Given the description of an element on the screen output the (x, y) to click on. 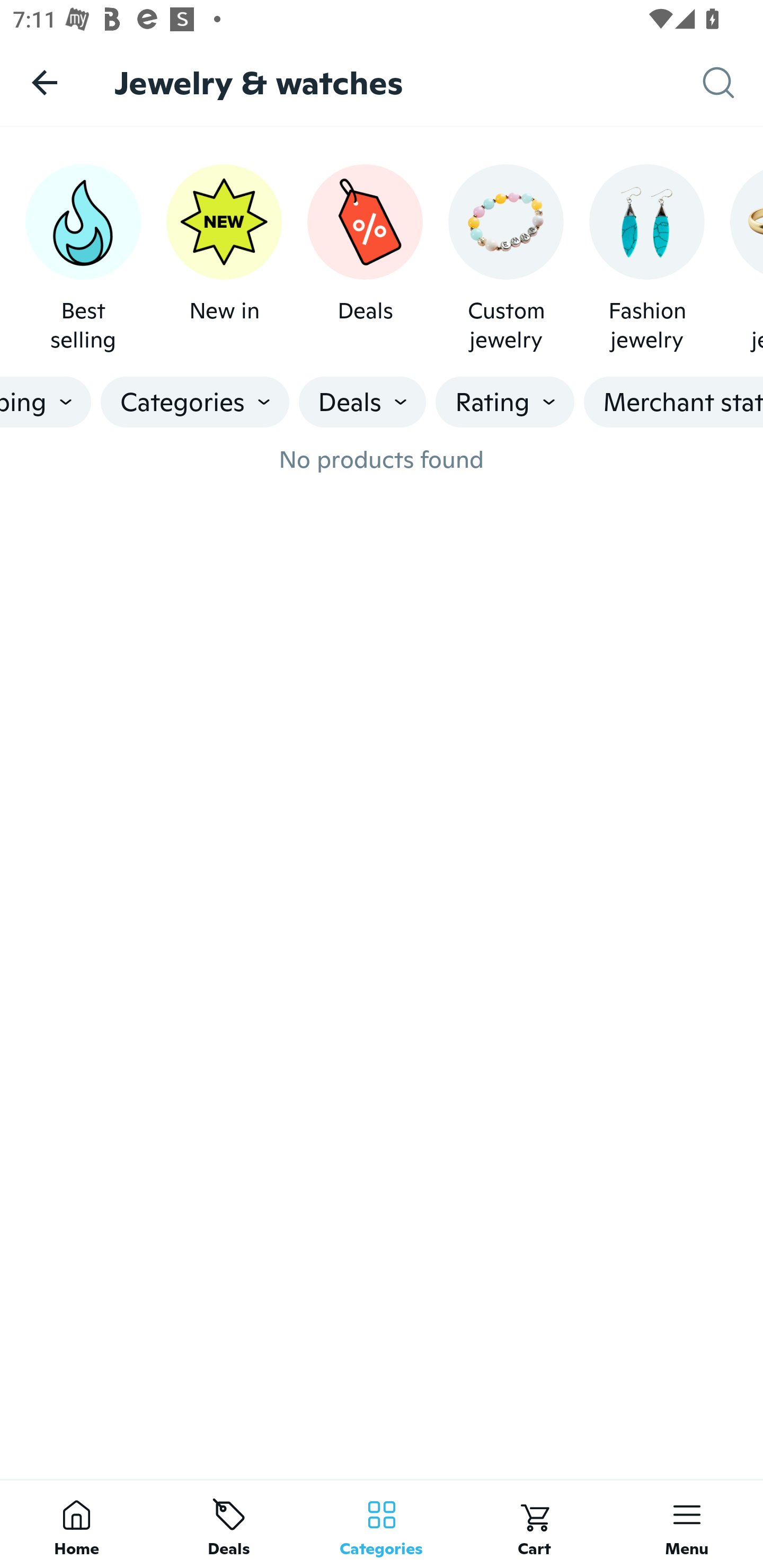
Navigate up (44, 82)
Search (732, 82)
Best selling (83, 259)
New in (223, 259)
Deals (364, 259)
Custom jewelry (505, 259)
Fashion jewelry (647, 259)
Categories (194, 402)
Deals (362, 402)
Rating (504, 402)
Merchant status (673, 402)
Home (76, 1523)
Deals (228, 1523)
Categories (381, 1523)
Cart (533, 1523)
Menu (686, 1523)
